Given the description of an element on the screen output the (x, y) to click on. 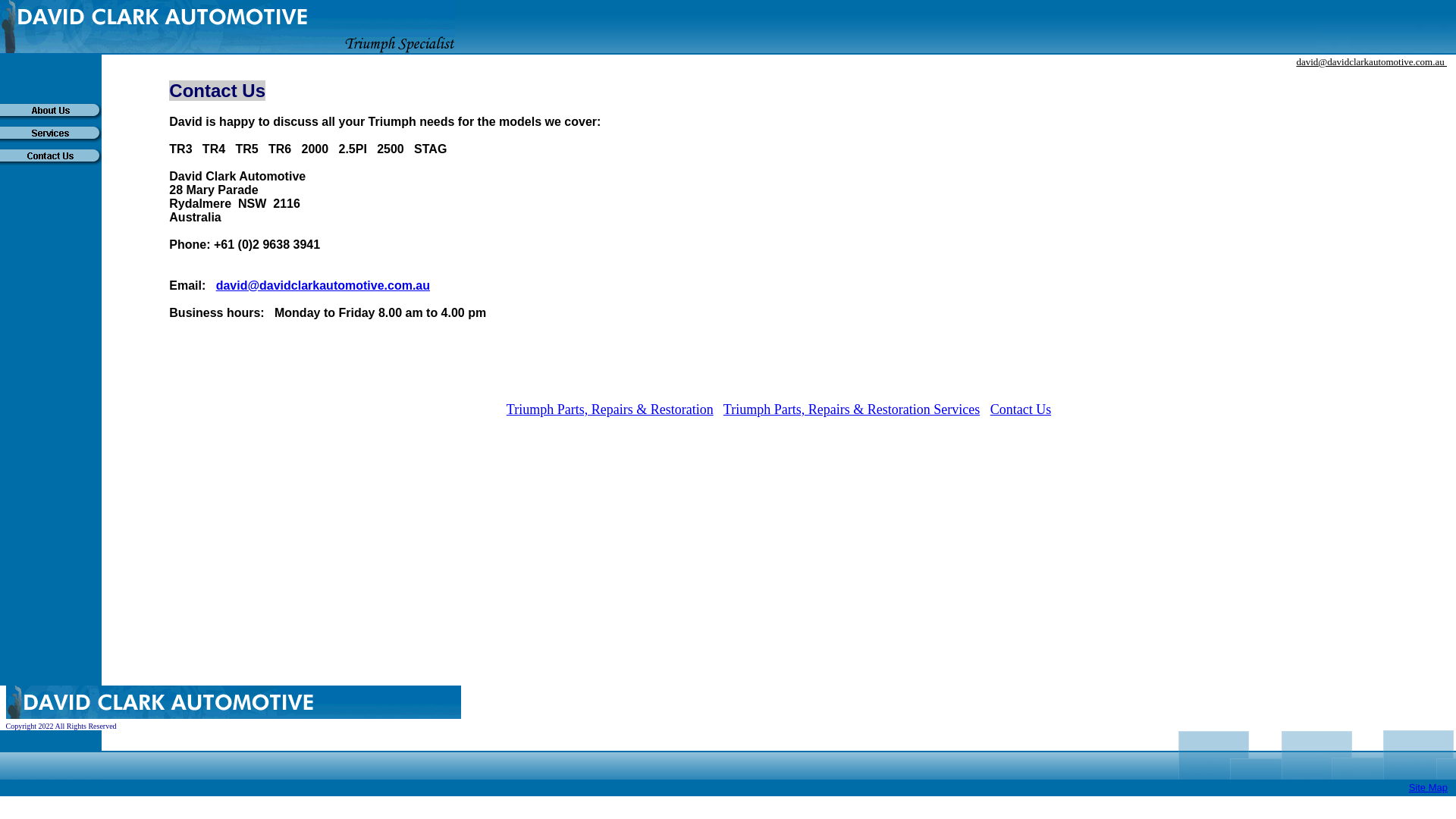
Triumph Parts, Repairs & Restoration Element type: text (609, 409)
DAVID CLARK AUTOMOTIVE Element type: hover (227, 16)
Contact Us Element type: hover (50, 156)
david@davidclarkautomotive.com.au Element type: text (1370, 61)
Site Map Element type: text (1427, 787)
Services Element type: hover (50, 133)
Triumph Parts, Repairs & Restoration Services Element type: text (851, 409)
About Us Element type: hover (50, 111)
Contact Us Element type: text (1020, 409)
david@davidclarkautomotive.com.au Element type: text (322, 285)
Triumph Specialist Element type: hover (227, 43)
